Given the description of an element on the screen output the (x, y) to click on. 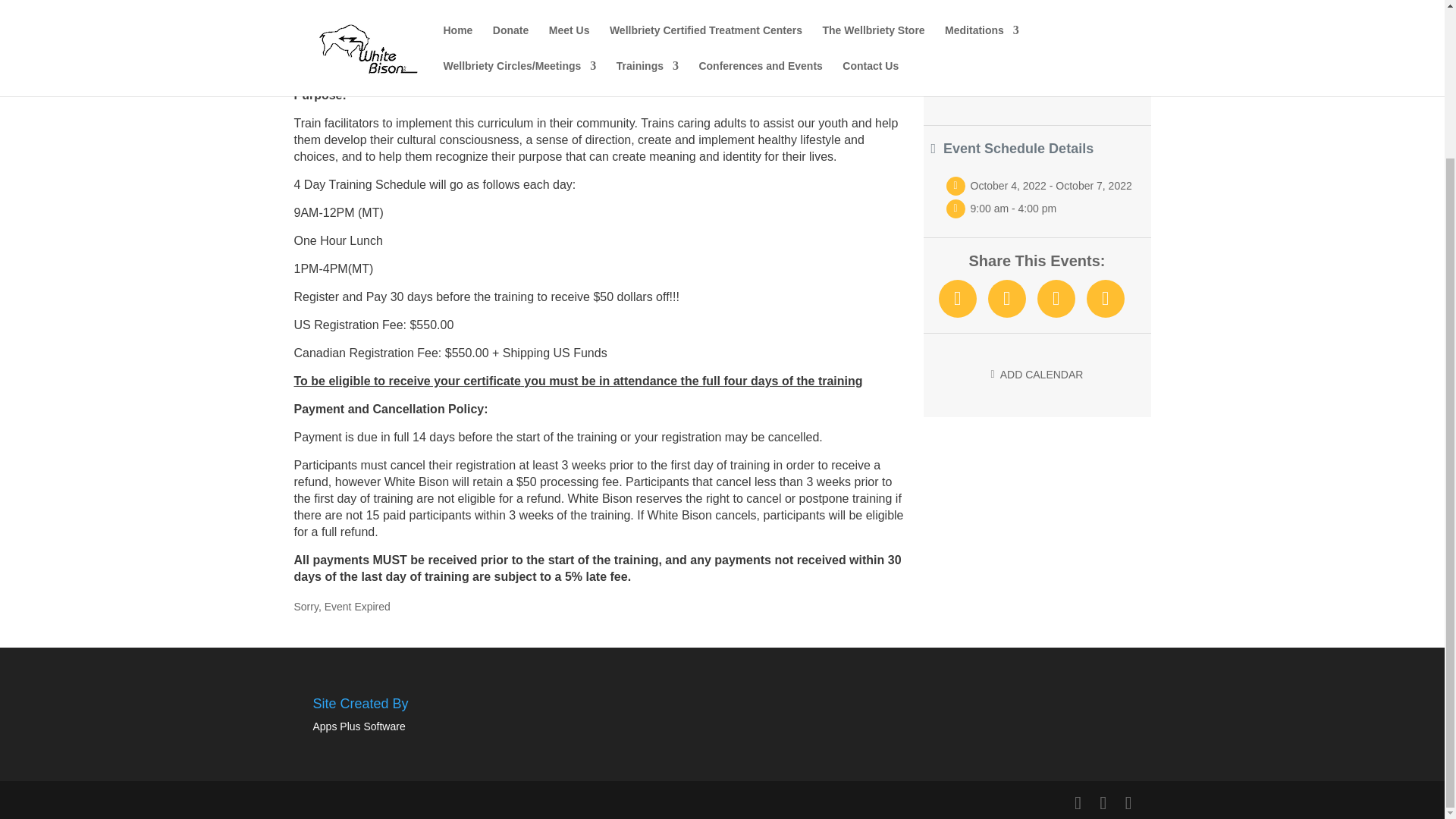
Share by Email (1105, 298)
